Given the description of an element on the screen output the (x, y) to click on. 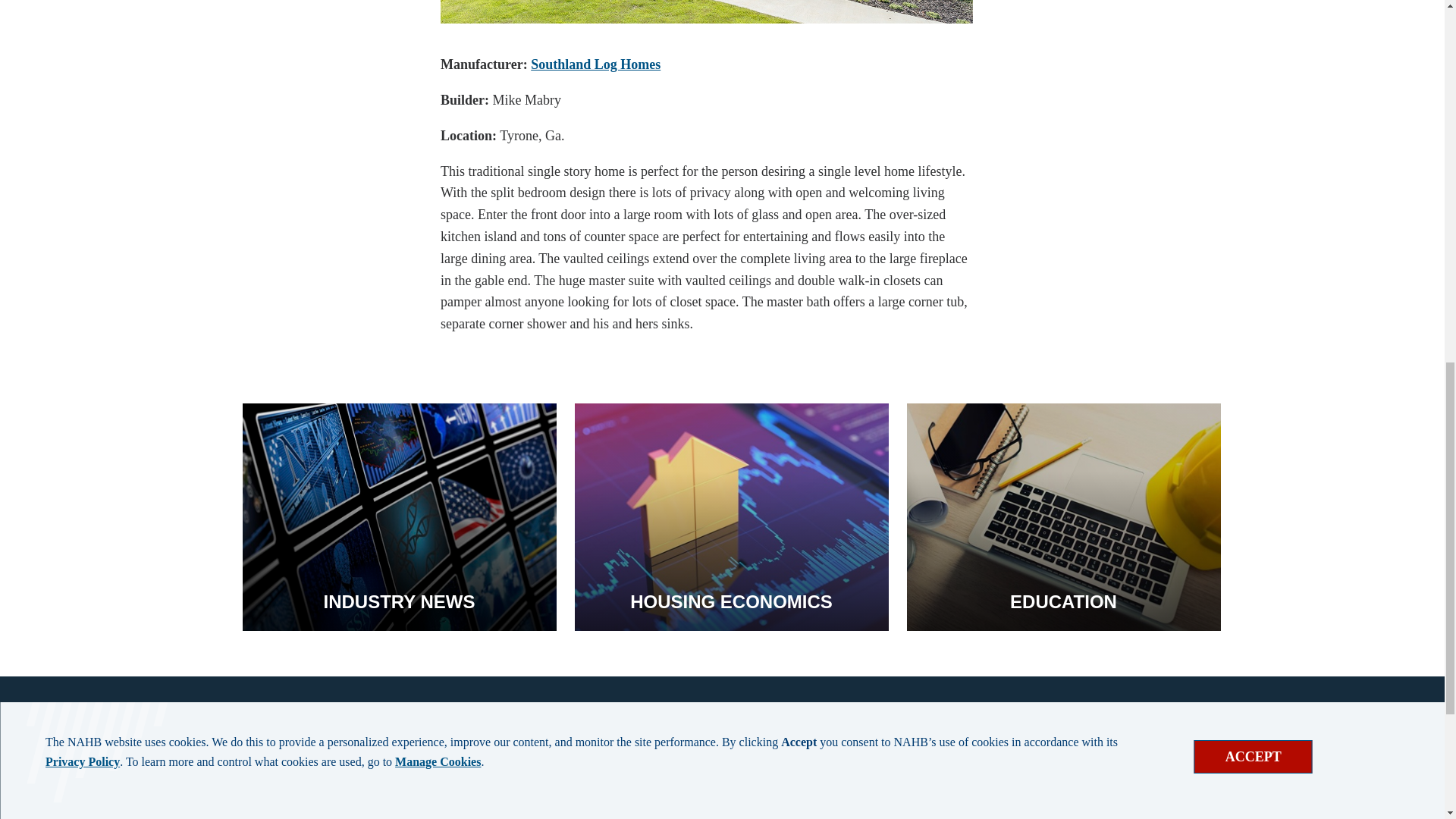
Opens a page in a new window (596, 64)
Opens a page (731, 516)
Opens a page (399, 516)
